Given the description of an element on the screen output the (x, y) to click on. 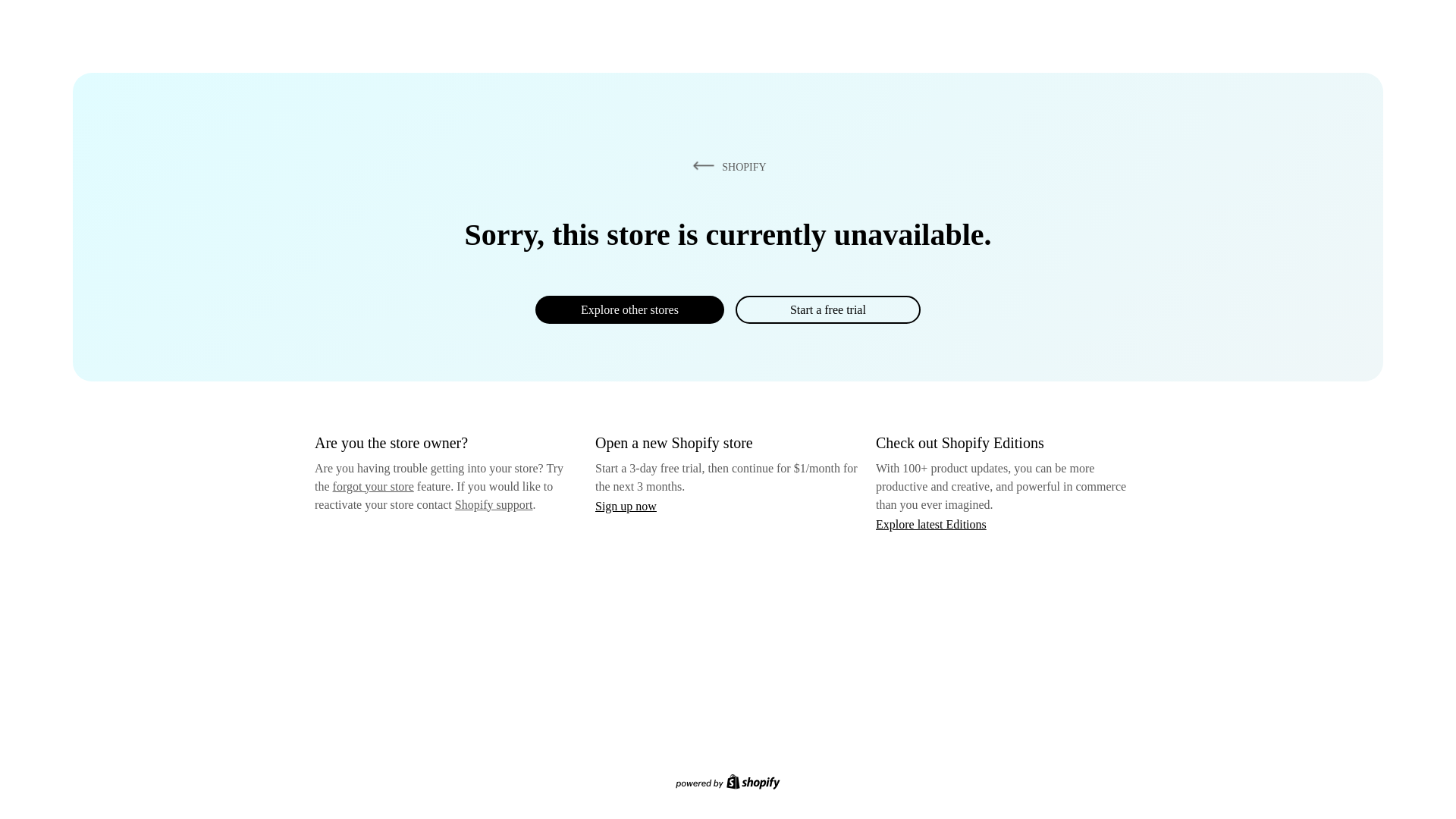
Explore latest Editions (931, 523)
Shopify support (493, 504)
forgot your store (373, 486)
Start a free trial (827, 309)
Sign up now (625, 505)
Explore other stores (629, 309)
SHOPIFY (726, 166)
